Given the description of an element on the screen output the (x, y) to click on. 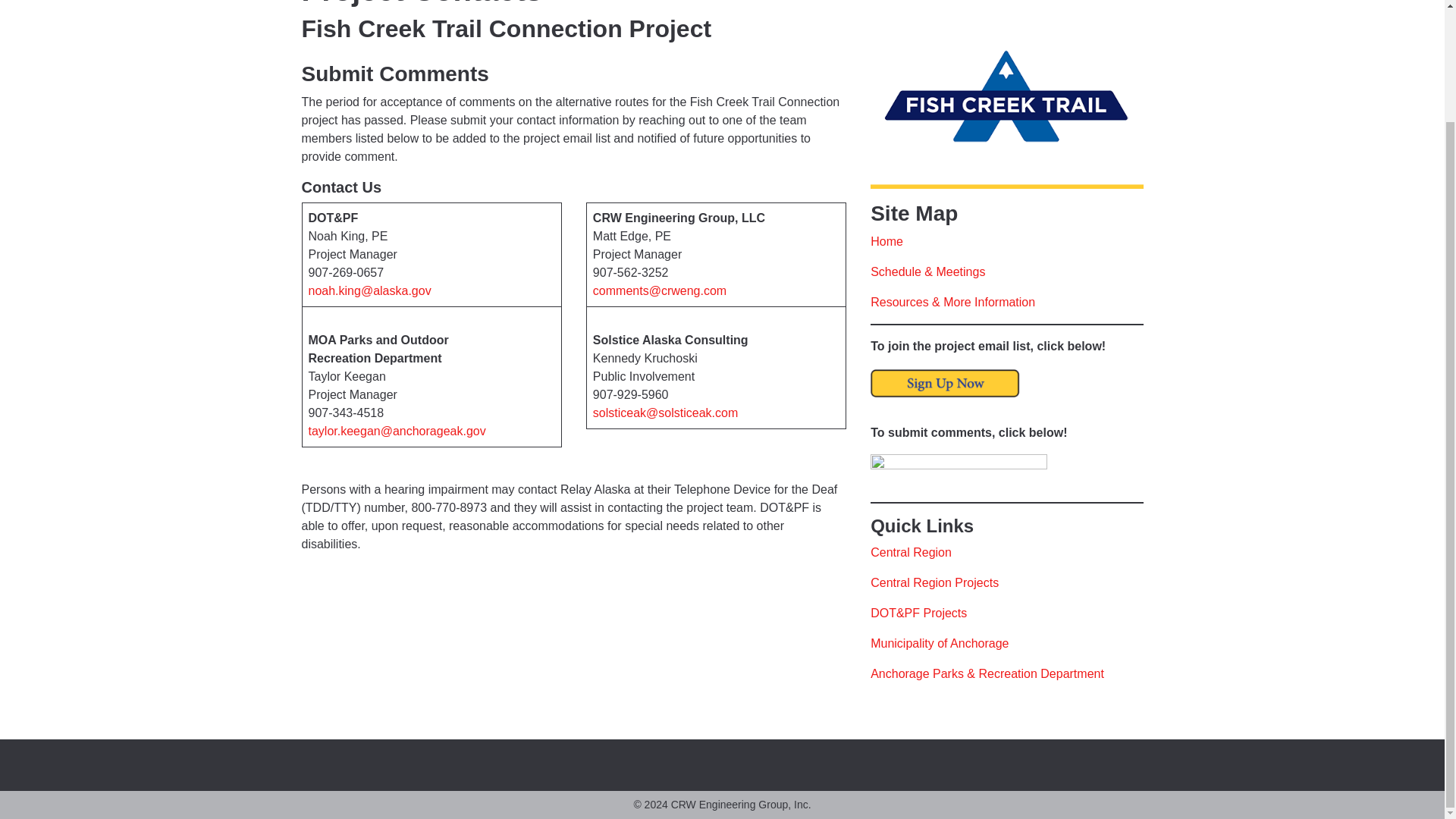
Home (886, 241)
Municipality of Anchorage (939, 643)
Central Region Projects (934, 582)
Central Region (911, 552)
